Given the description of an element on the screen output the (x, y) to click on. 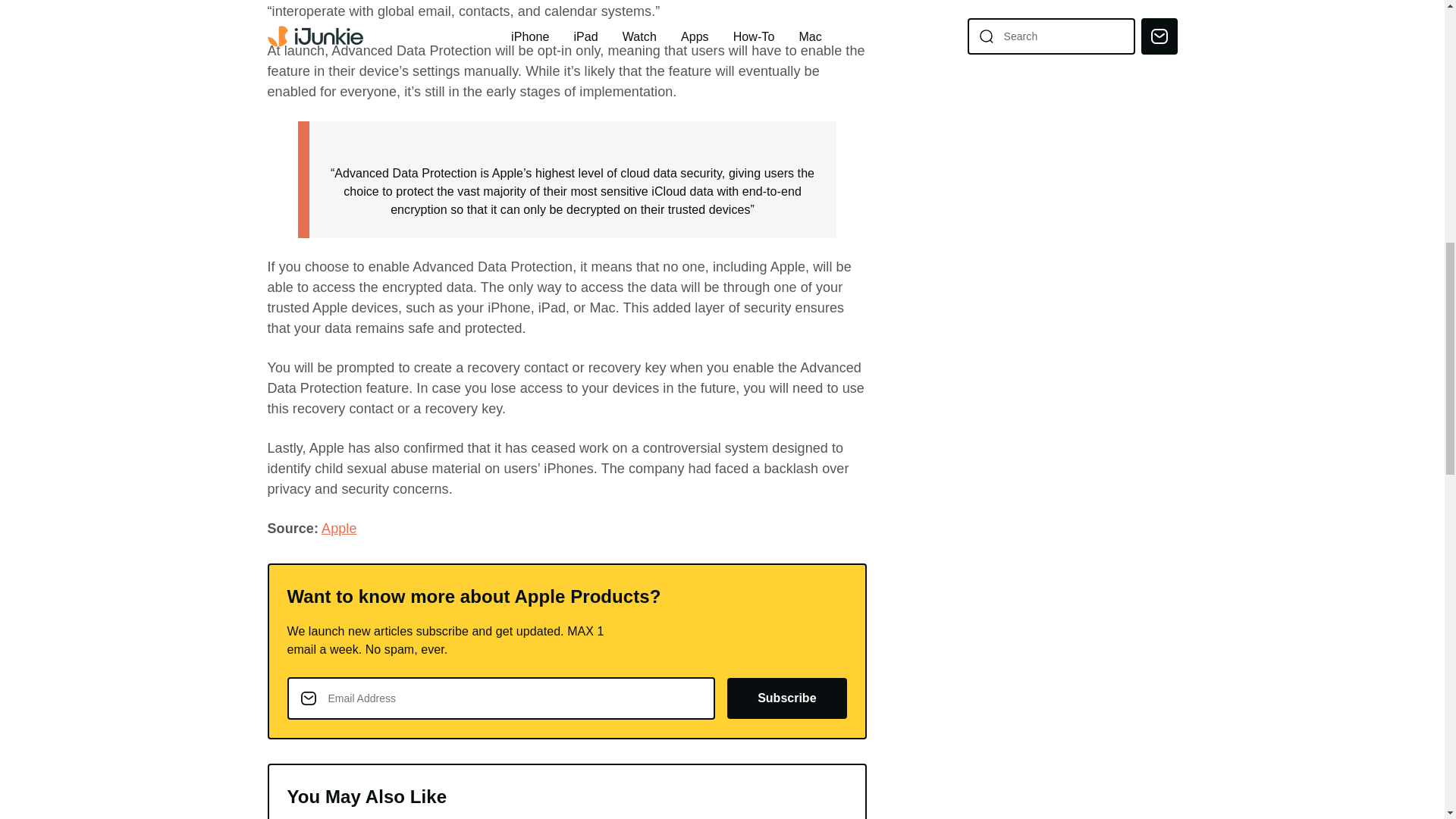
Subscribe (785, 698)
Apple (338, 528)
